Given the description of an element on the screen output the (x, y) to click on. 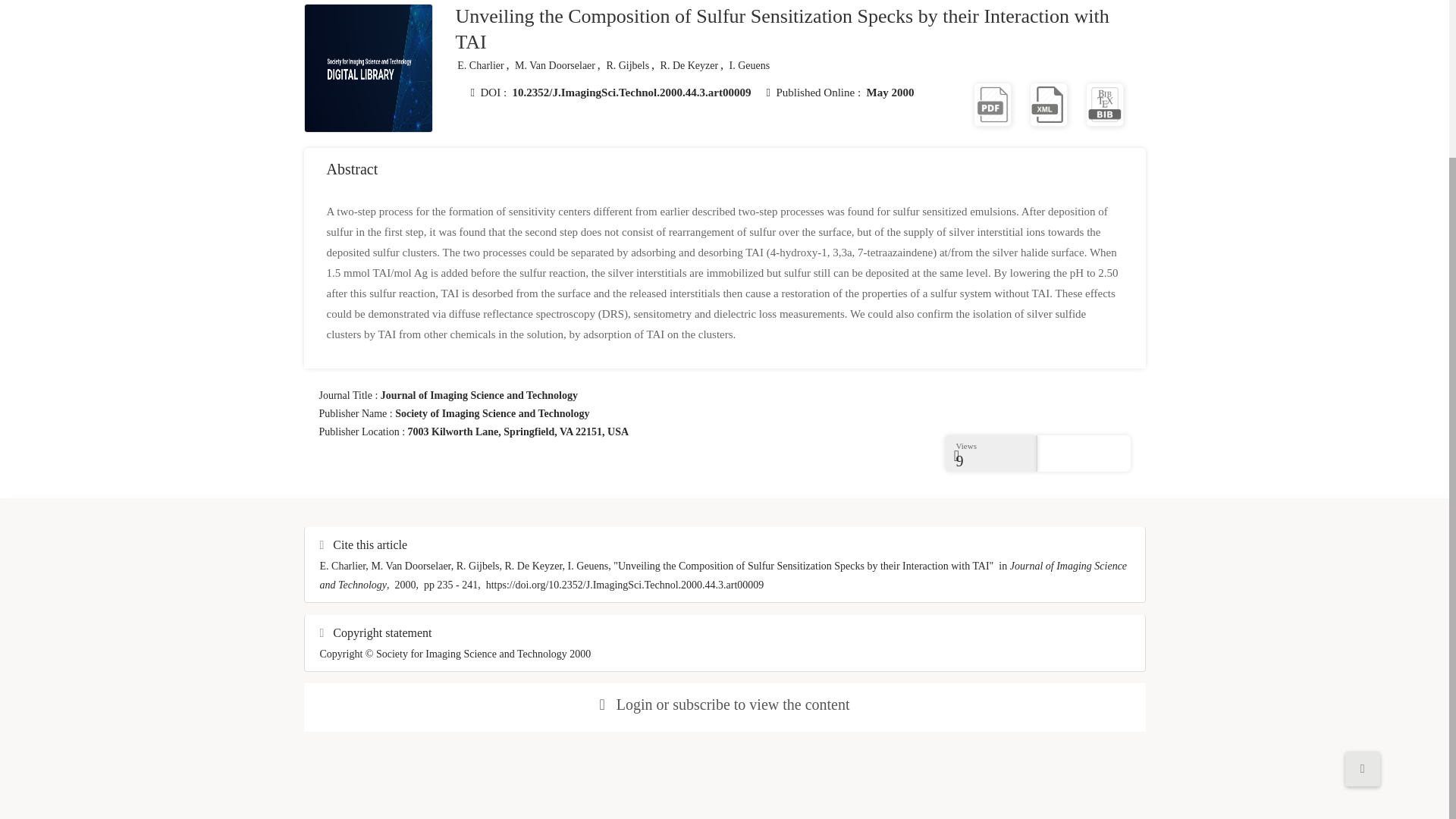
Login (633, 704)
Subscribe to download (1105, 103)
Subscribe to download (1048, 103)
No article cover image (368, 67)
subscribe (701, 704)
Subscribe to download (992, 103)
